Given the description of an element on the screen output the (x, y) to click on. 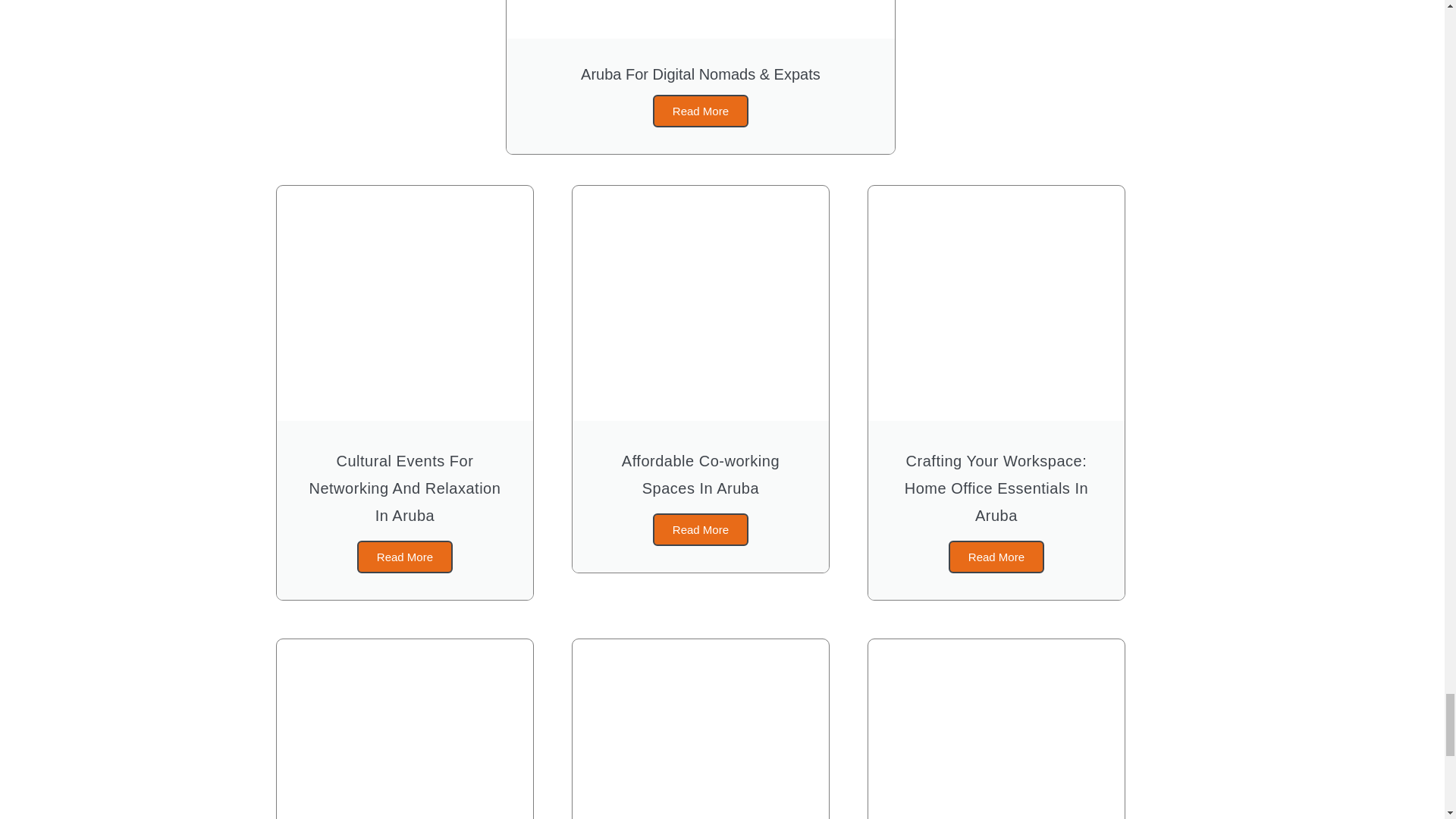
Read More (404, 556)
Read More (996, 556)
Read More (700, 529)
